Given the description of an element on the screen output the (x, y) to click on. 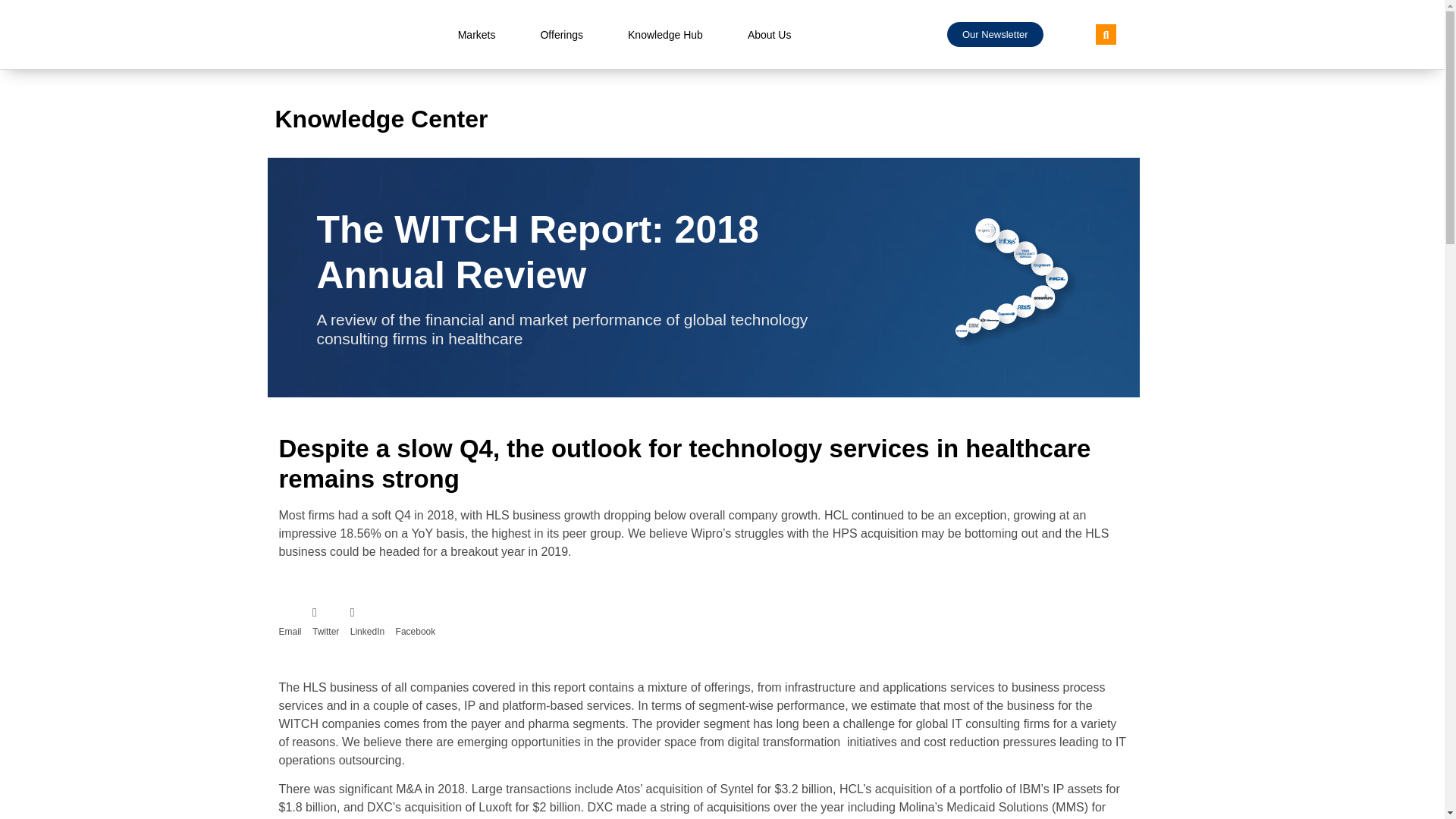
Knowledge Hub (664, 34)
Offerings (561, 34)
About Us (769, 34)
cropped damo logo 2022 11.png (354, 34)
Our Newsletter (995, 34)
Markets (476, 34)
